Given the description of an element on the screen output the (x, y) to click on. 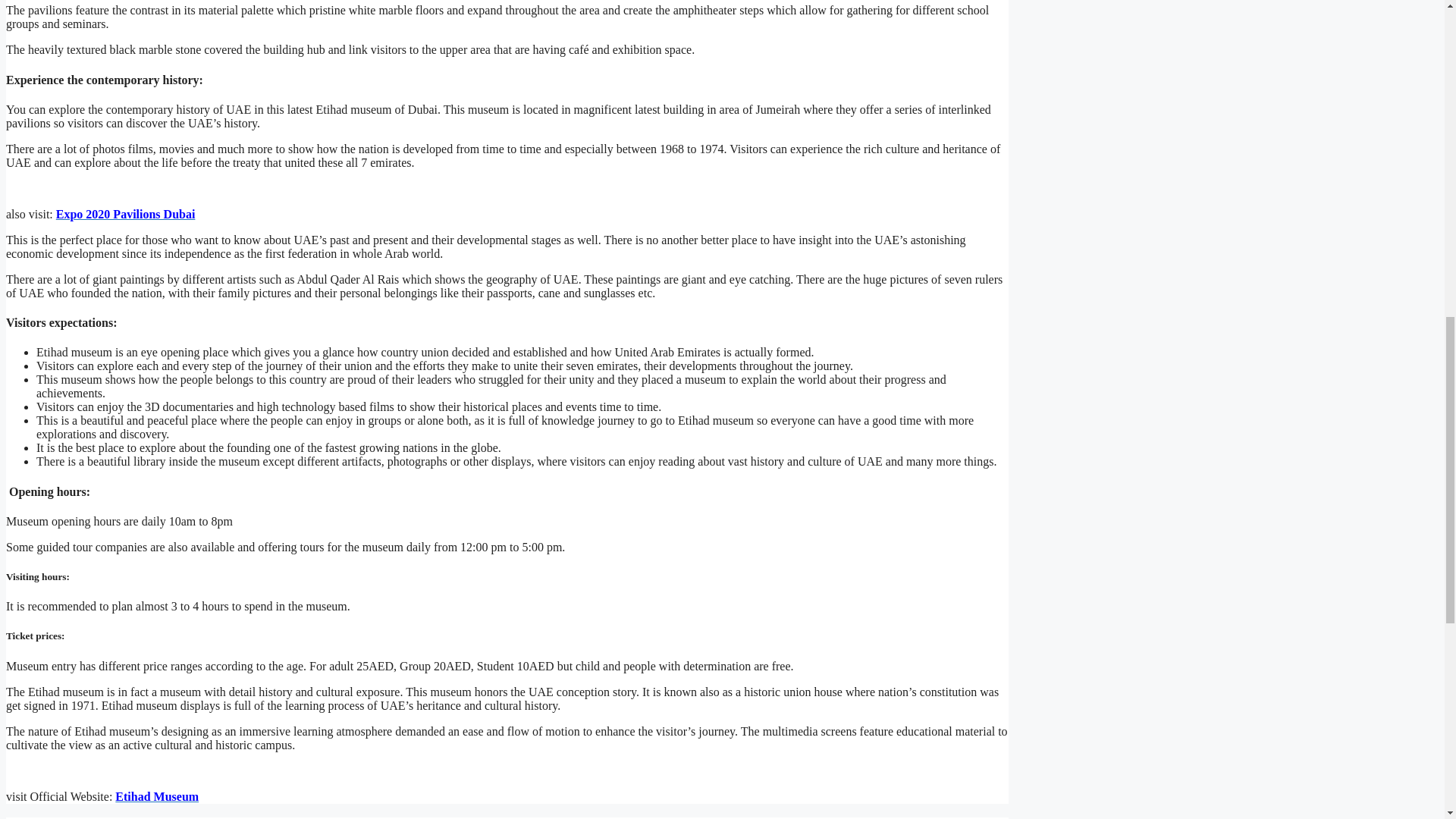
Etihad Museum (156, 796)
Expo 2020 Pavilions Dubai (125, 214)
